Given the description of an element on the screen output the (x, y) to click on. 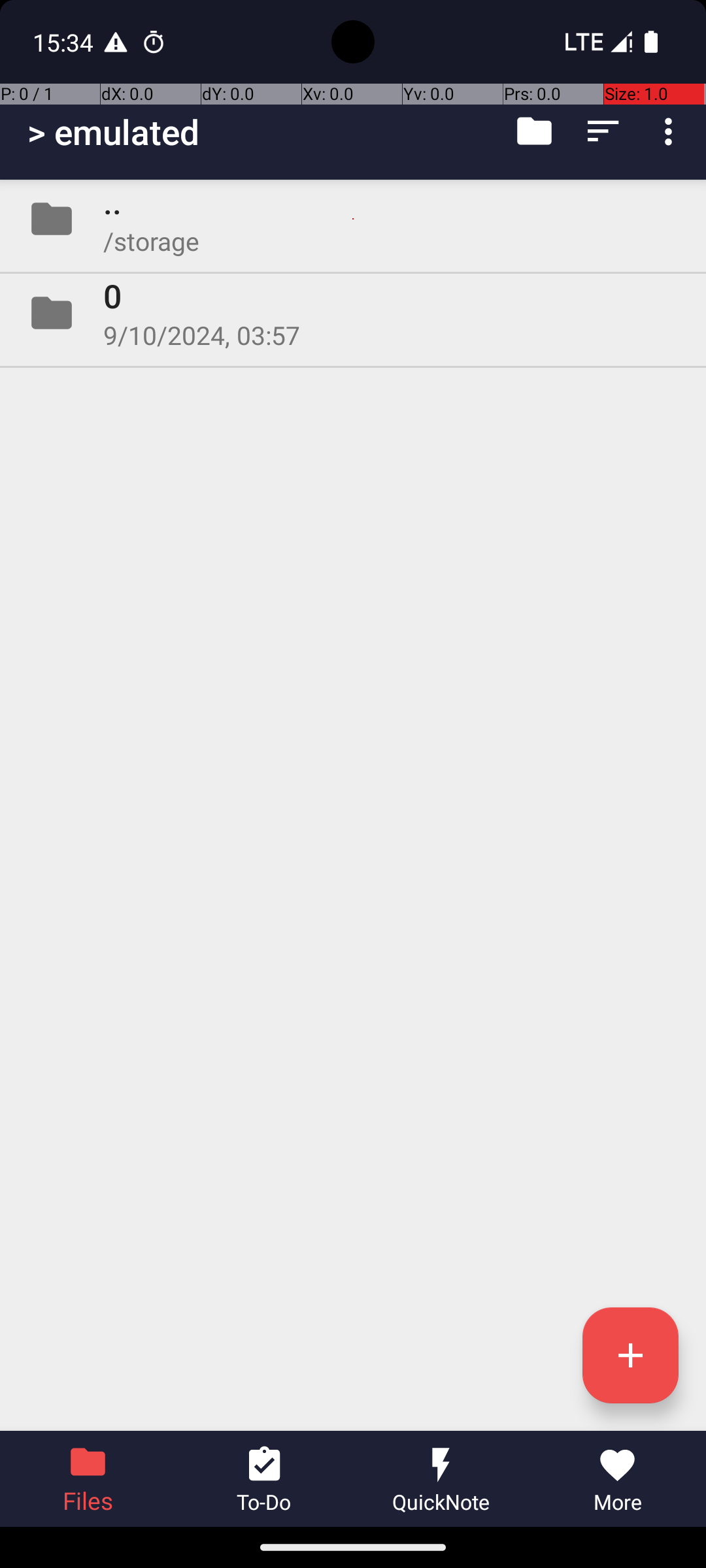
> emulated Element type: android.widget.TextView (113, 131)
Folder 0  Element type: android.widget.LinearLayout (353, 312)
